Given the description of an element on the screen output the (x, y) to click on. 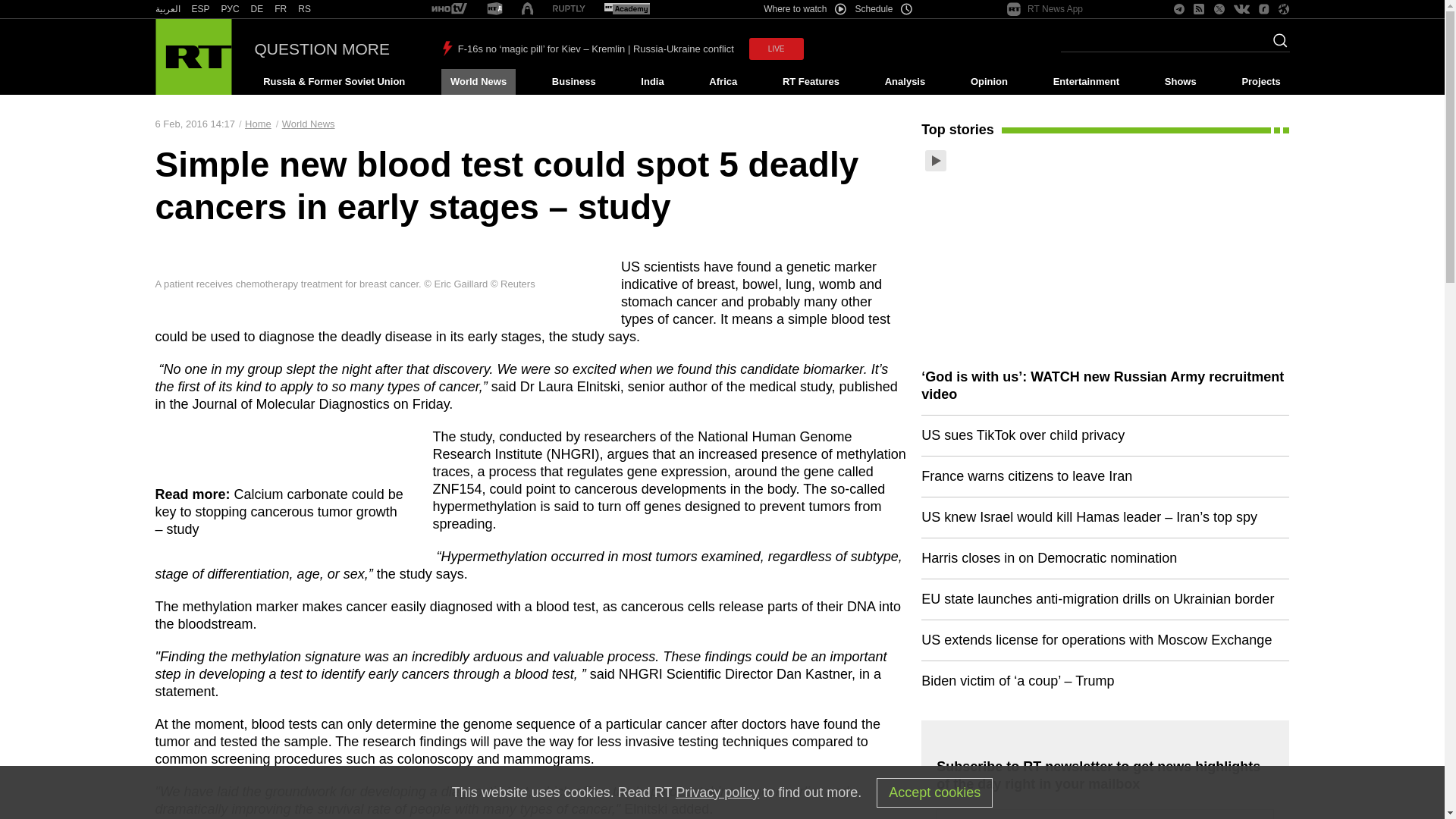
RT Features (810, 81)
RT  (494, 9)
Schedule (884, 9)
Search (1276, 44)
RT  (626, 9)
RT  (280, 9)
LIVE (776, 48)
RT  (304, 9)
RT  (256, 9)
RS (304, 9)
QUESTION MORE (322, 48)
Business (573, 81)
DE (256, 9)
Africa (722, 81)
India (651, 81)
